Given the description of an element on the screen output the (x, y) to click on. 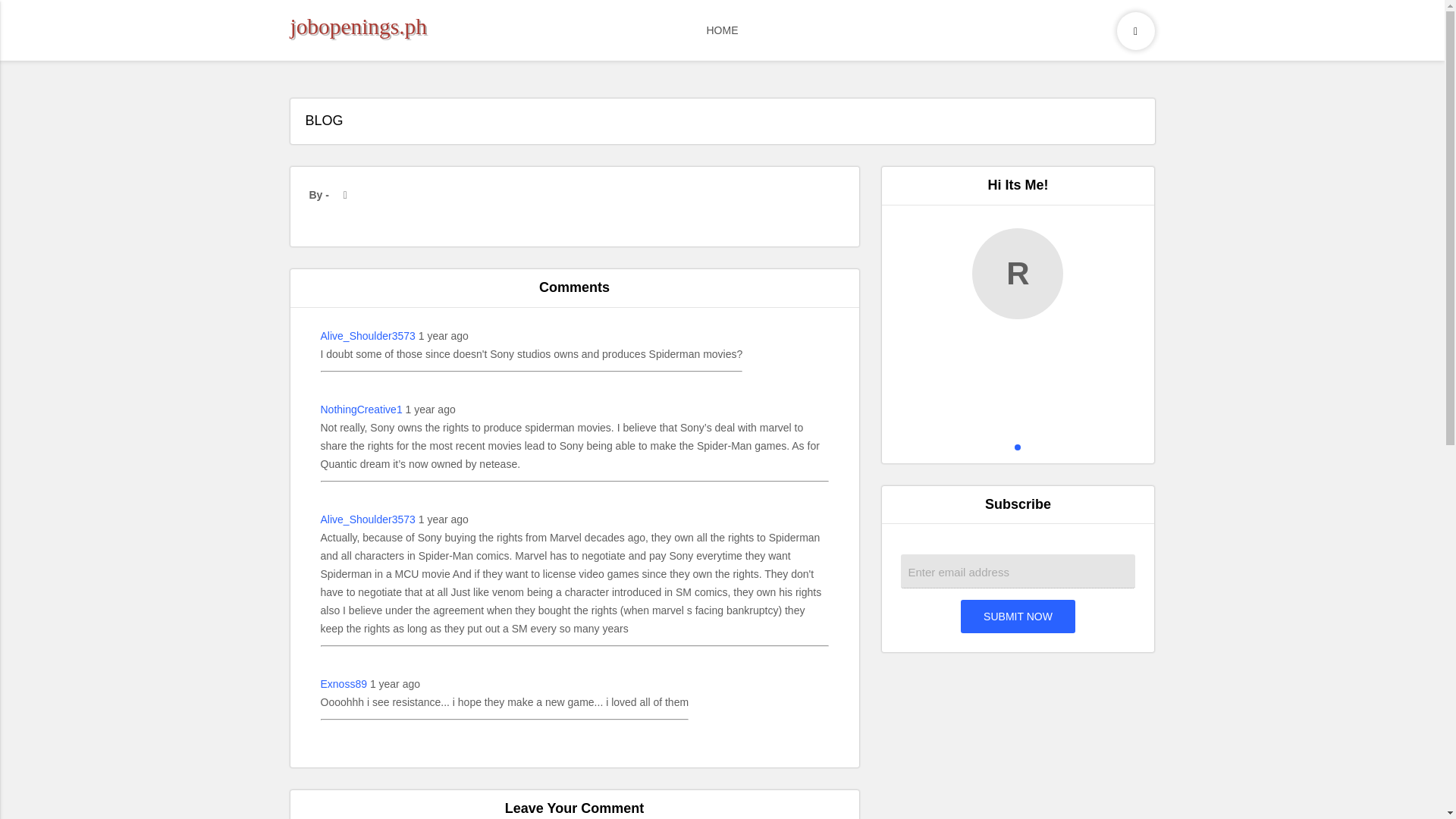
Exnoss89 (343, 683)
SUBMIT NOW (1017, 616)
HOME (722, 30)
jobopenings.ph (357, 28)
NothingCreative1 (360, 409)
